Given the description of an element on the screen output the (x, y) to click on. 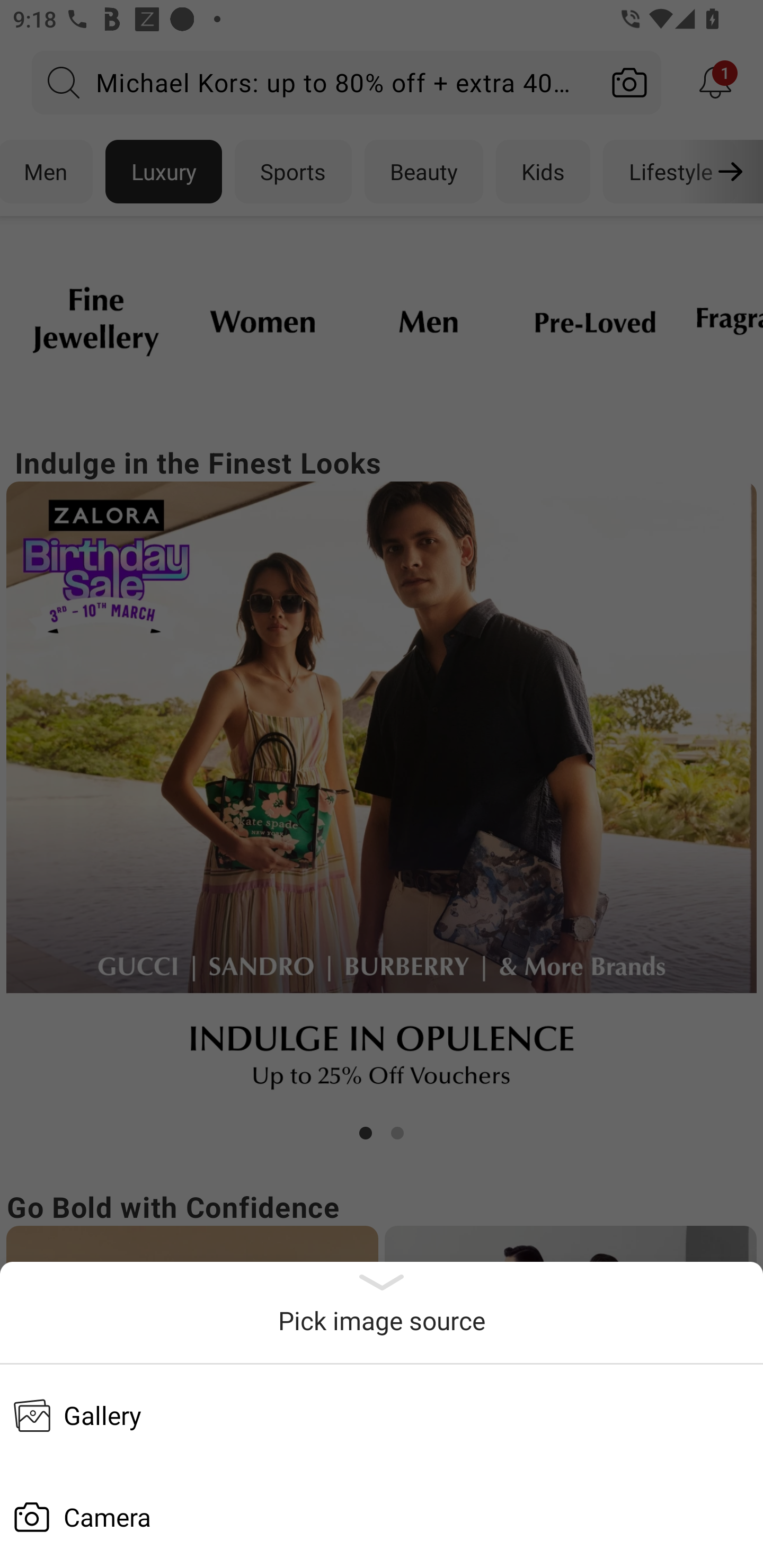
Gallery (381, 1415)
Camera (381, 1517)
